Given the description of an element on the screen output the (x, y) to click on. 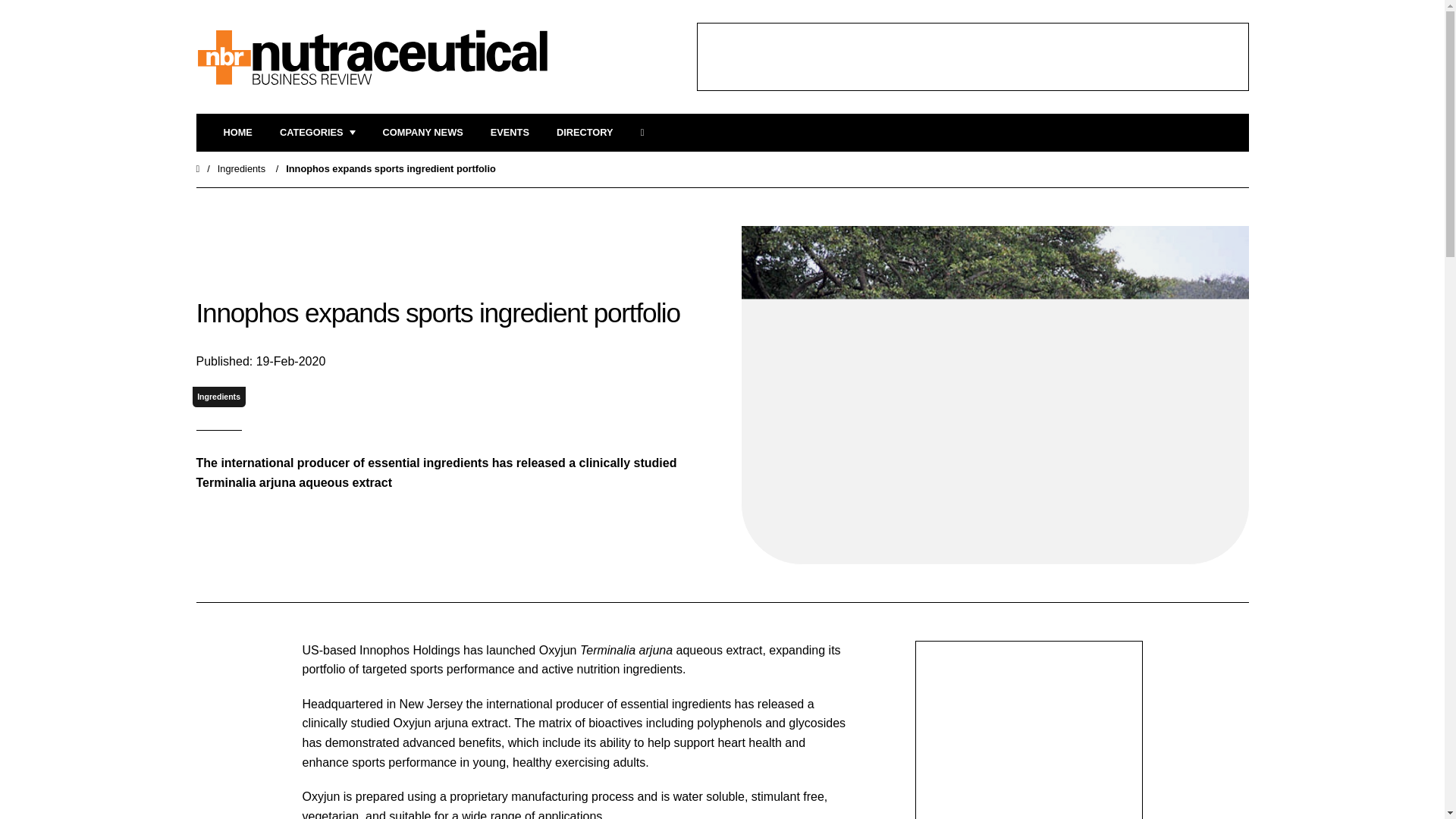
SEARCH (646, 133)
COMPANY NEWS (422, 133)
HOME (236, 133)
CATEGORIES (317, 133)
Ingredients (219, 396)
DIRECTORY (584, 133)
Directory (584, 133)
EVENTS (509, 133)
Ingredients (240, 168)
